Given the description of an element on the screen output the (x, y) to click on. 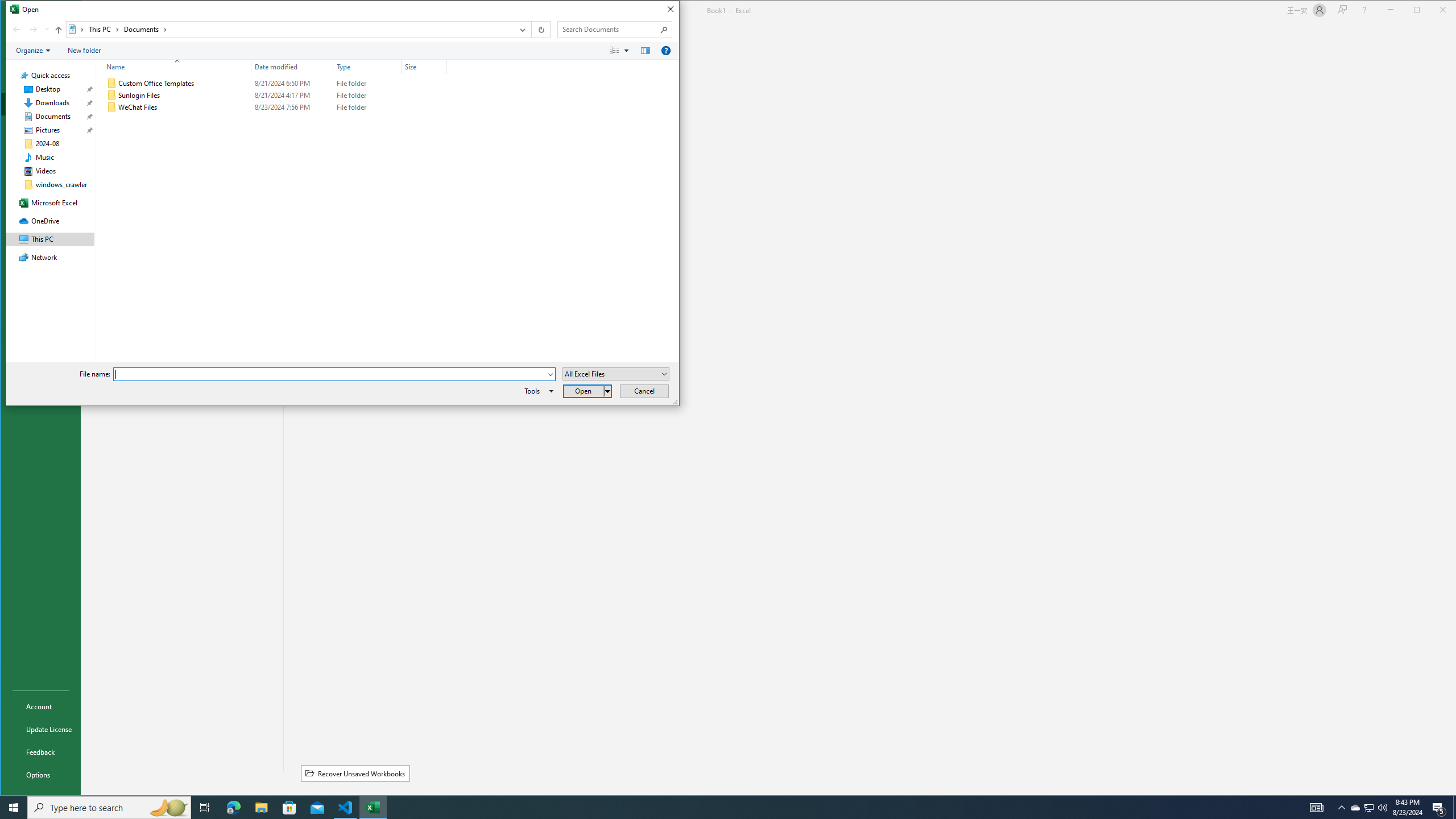
Minimize (1419, 11)
Type (367, 107)
Feedback (40, 751)
Files of type: (615, 373)
Maximize (1432, 11)
Tools (537, 390)
WeChat Files (274, 107)
Excel - 1 running window (373, 807)
Up band toolbar (58, 31)
Filter dropdown (442, 66)
Options (40, 774)
Open (664, 373)
Size (423, 66)
Navigation buttons (29, 29)
Help (1364, 9)
